Given the description of an element on the screen output the (x, y) to click on. 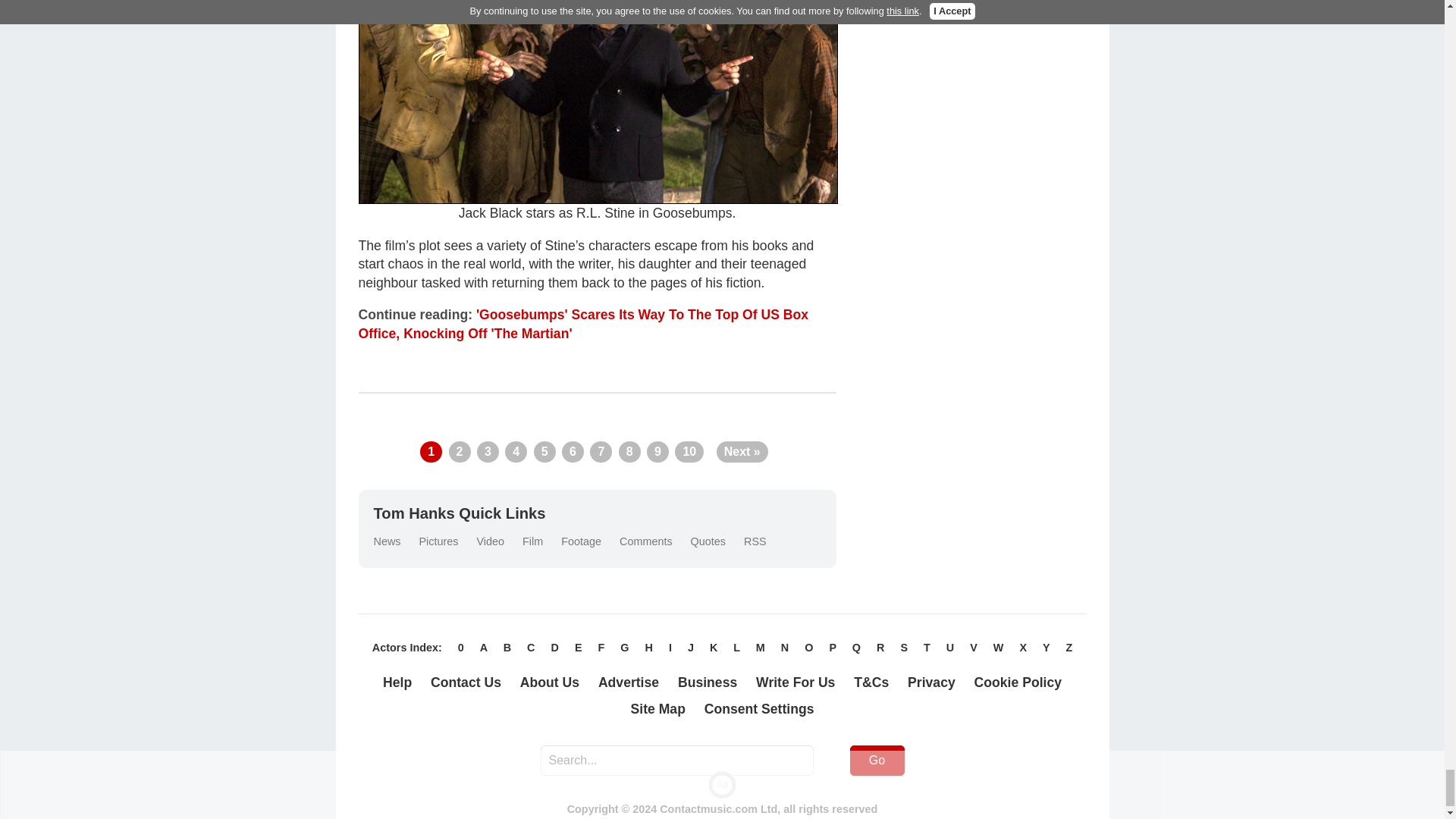
Go (876, 760)
